Given the description of an element on the screen output the (x, y) to click on. 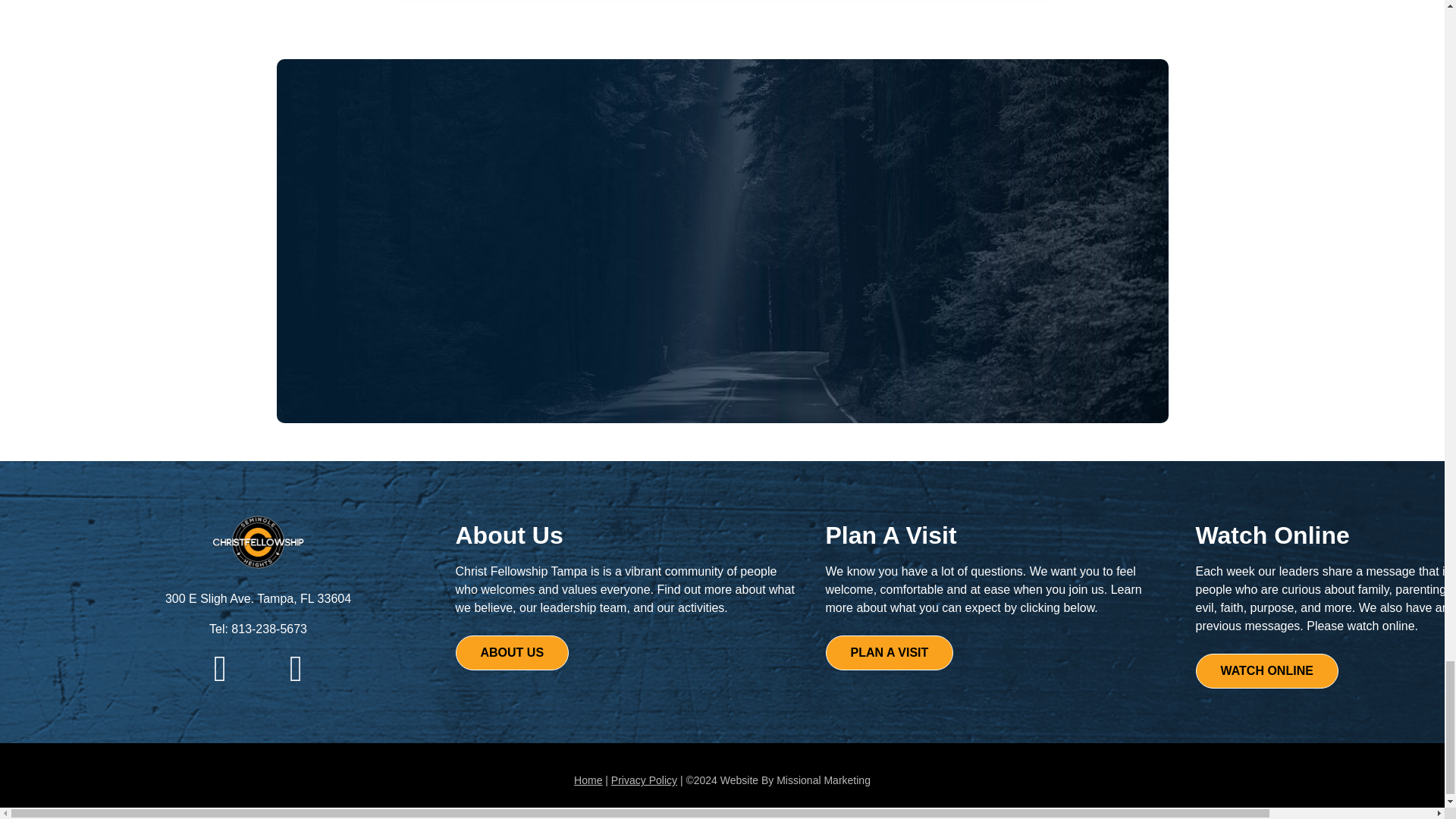
ABOUT US (511, 652)
PLAN A VISIT (889, 652)
WATCH ONLINE (1266, 670)
Privacy Policy (644, 779)
Home (587, 779)
